Given the description of an element on the screen output the (x, y) to click on. 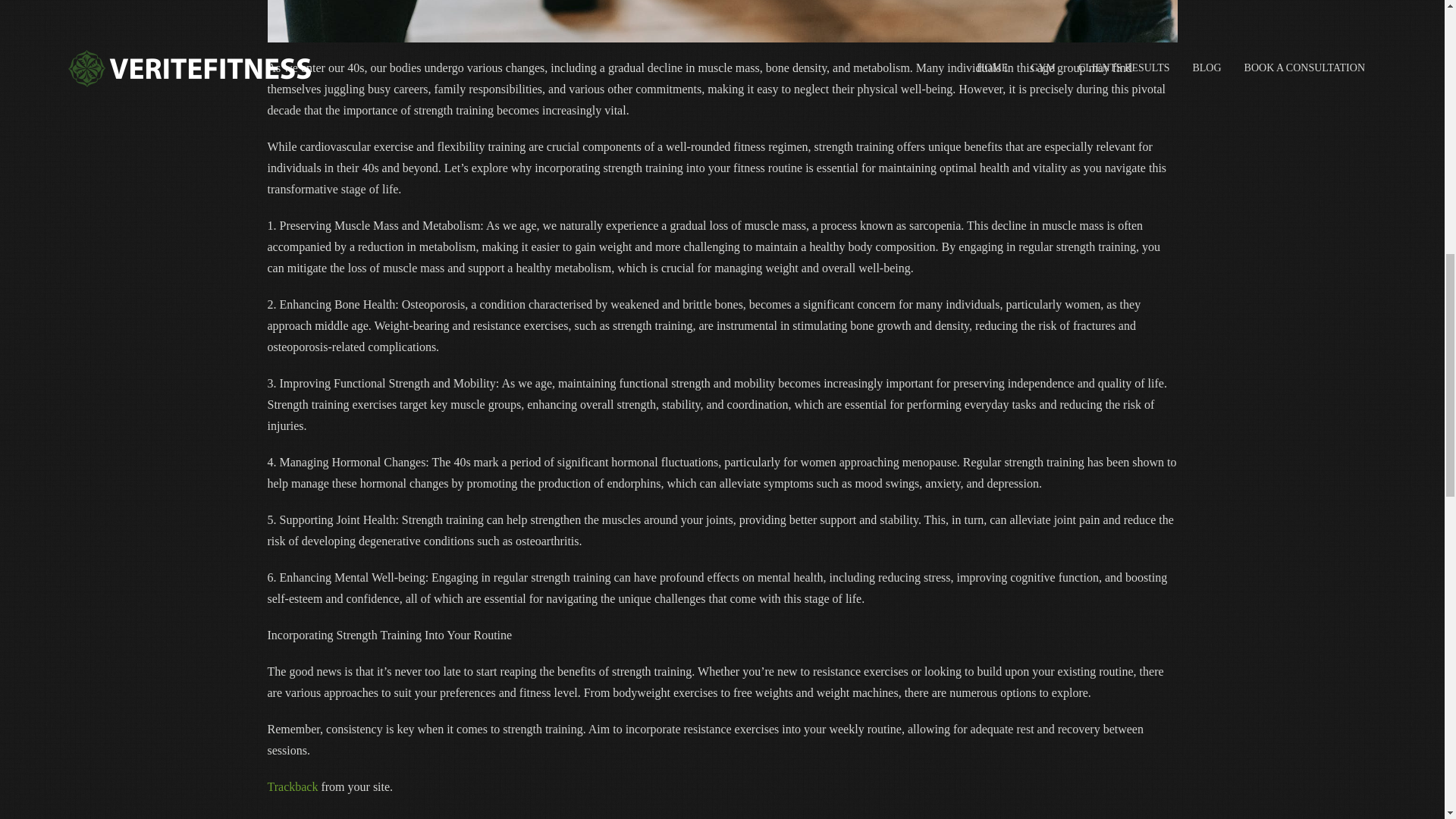
IMG 0289 2 (721, 21)
Trackback (291, 786)
